Given the description of an element on the screen output the (x, y) to click on. 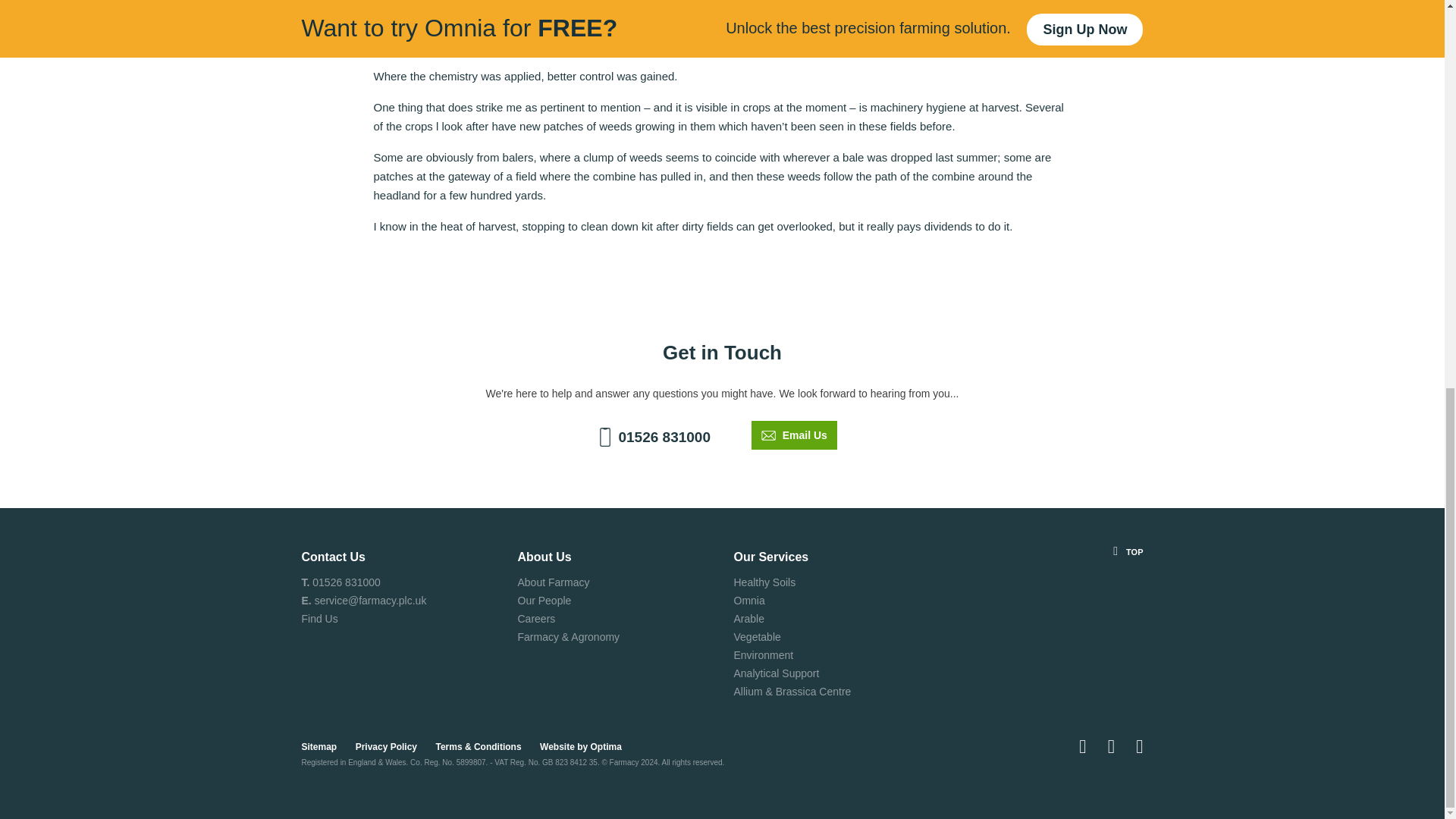
Email Us (794, 434)
Careers (535, 618)
TOP (1045, 552)
Contact Us (333, 556)
01526 831000 (346, 582)
01526 831000 (650, 436)
About Us (543, 556)
TOP (1046, 628)
Our People (543, 600)
Healthy Soils (764, 582)
